Given the description of an element on the screen output the (x, y) to click on. 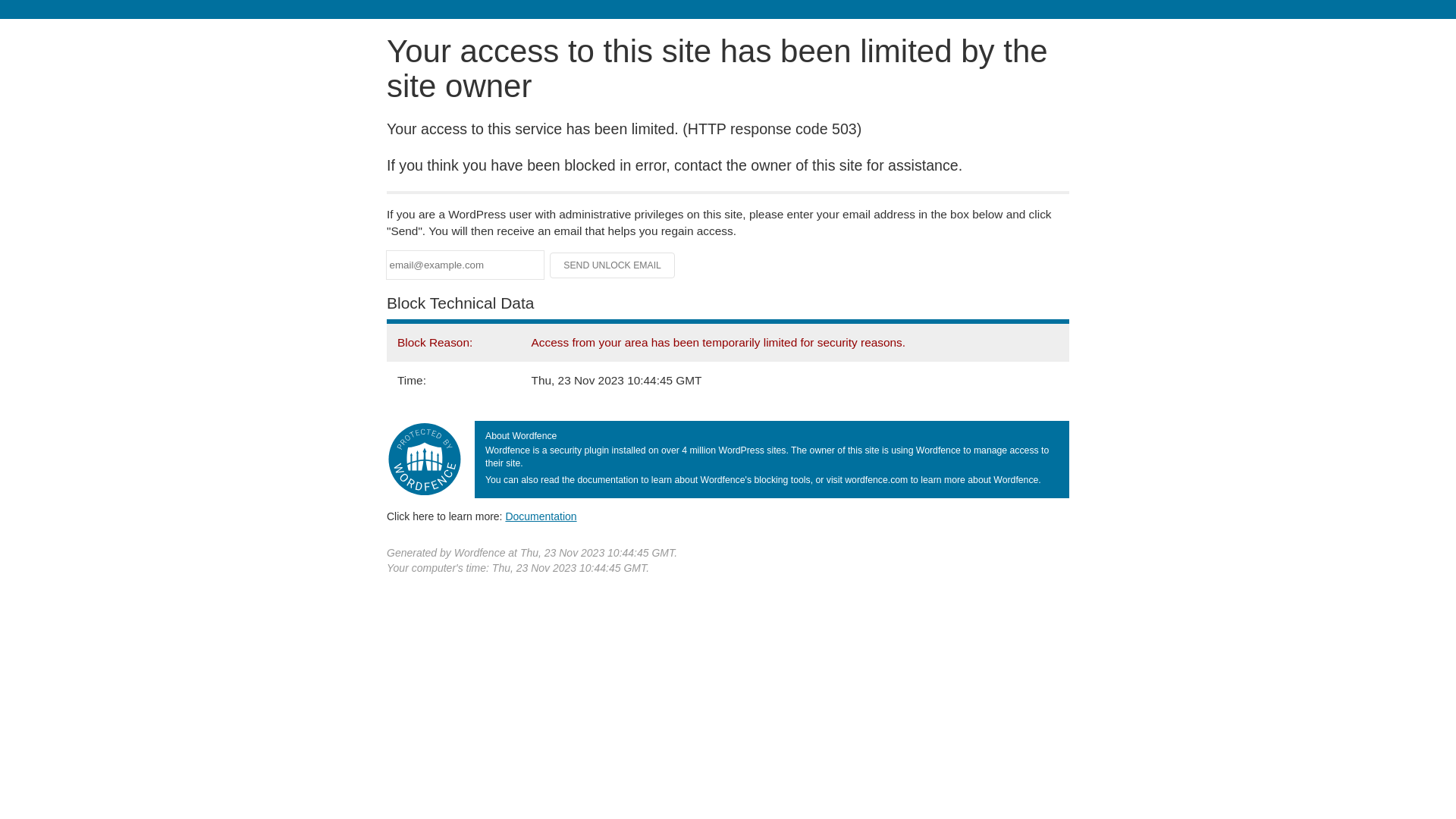
Documentation Element type: text (540, 516)
Send Unlock Email Element type: text (612, 265)
